Given the description of an element on the screen output the (x, y) to click on. 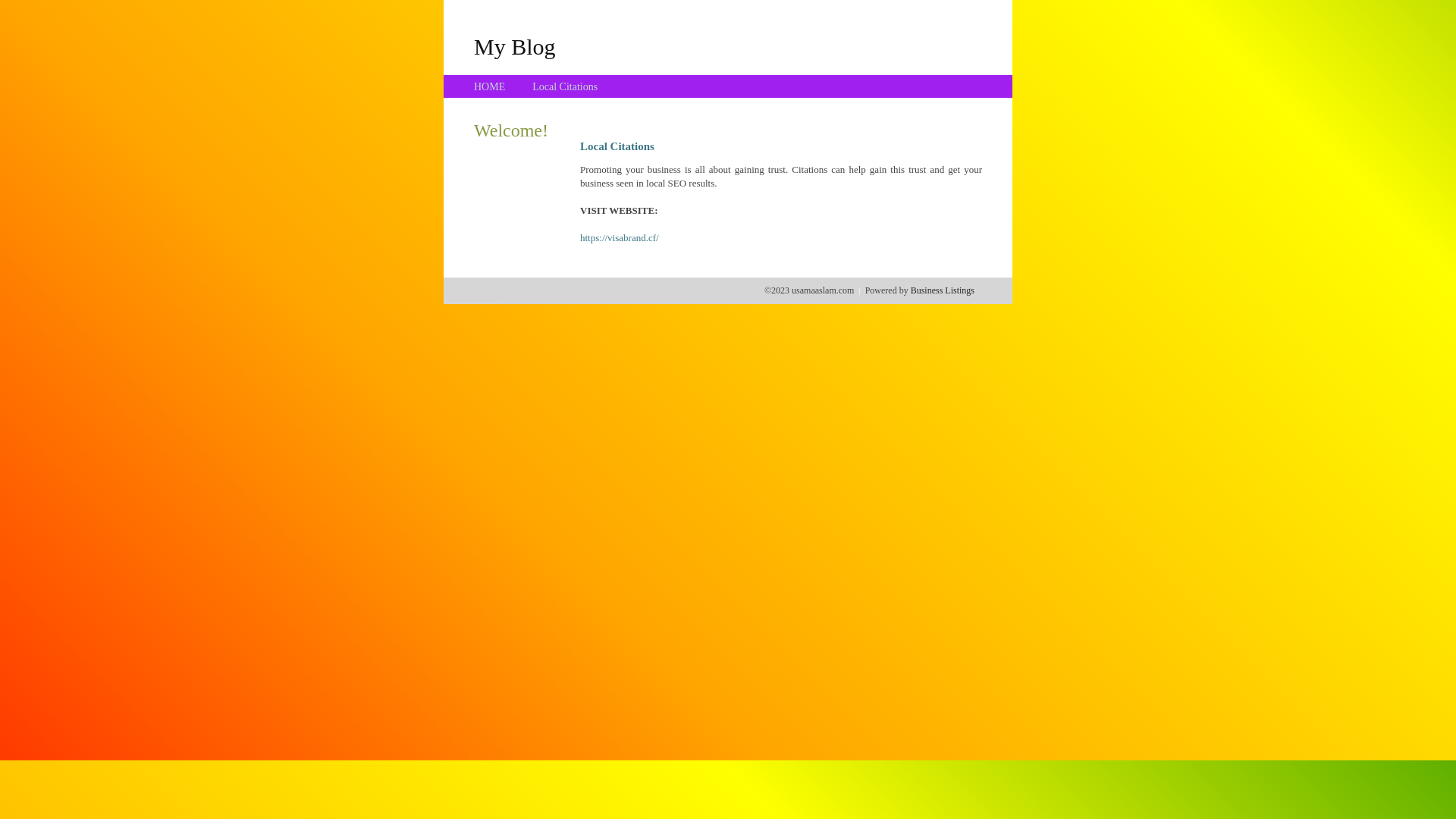
HOME Element type: text (489, 86)
Business Listings Element type: text (942, 290)
Local Citations Element type: text (564, 86)
https://visabrand.cf/ Element type: text (619, 237)
My Blog Element type: text (514, 46)
